Given the description of an element on the screen output the (x, y) to click on. 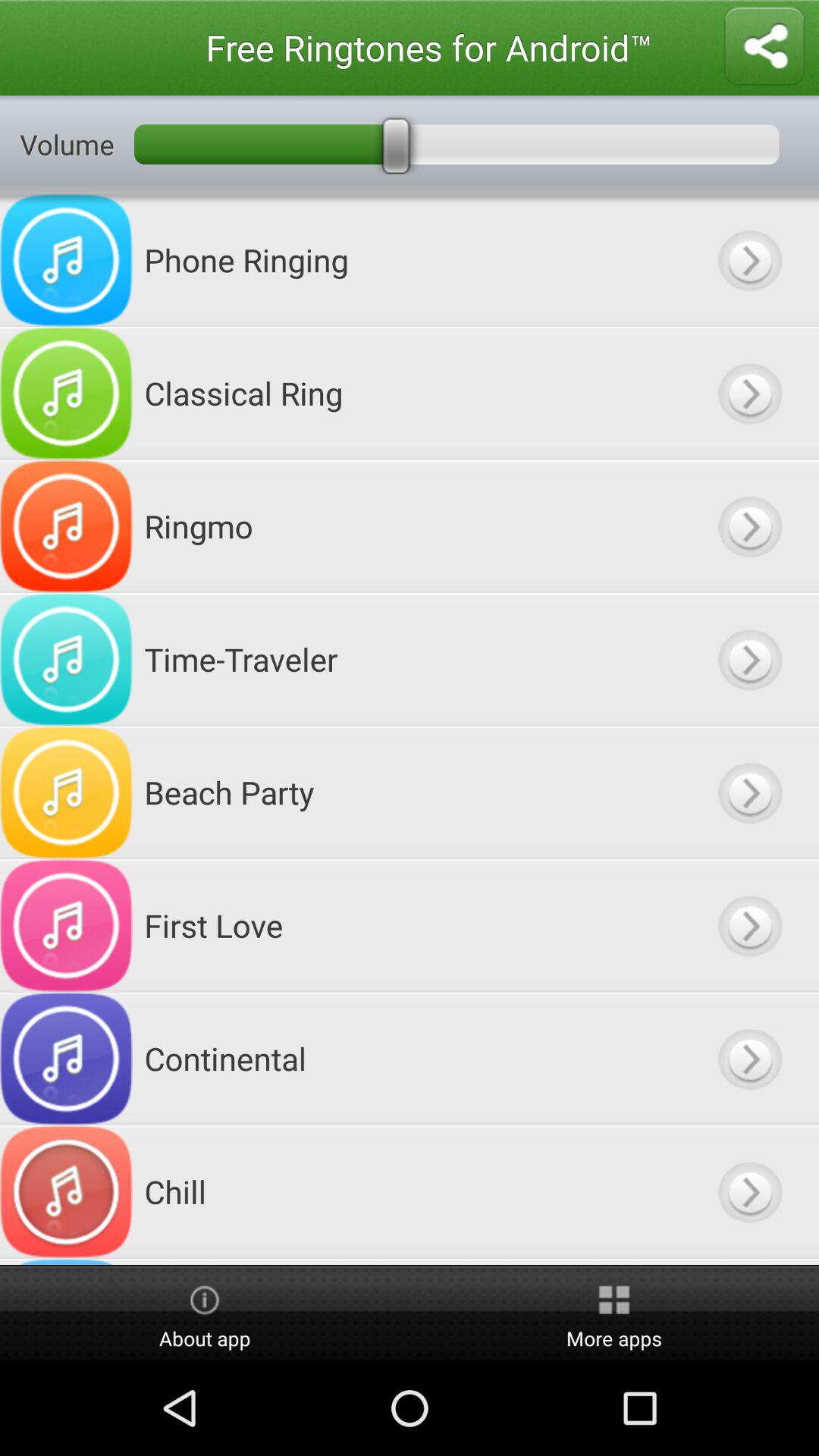
show more (749, 1261)
